Given the description of an element on the screen output the (x, y) to click on. 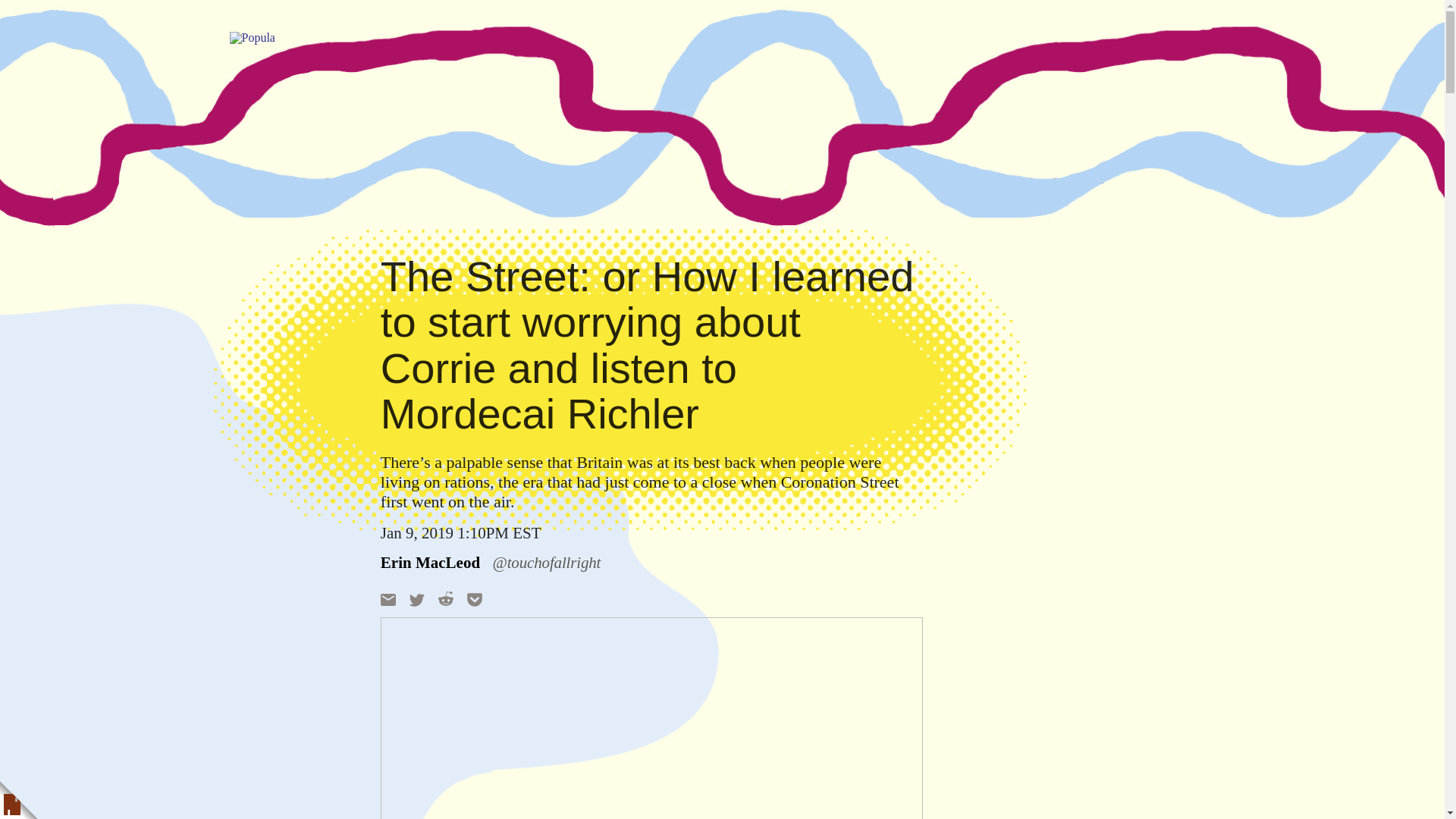
Click to share on Twitter (417, 599)
See more (651, 561)
Reddit (445, 598)
Click to share on Pocket (474, 599)
Email (388, 599)
Click to share on Reddit (445, 598)
Click to email a link to a friend (388, 599)
Pocket (474, 599)
Erin MacLeod (430, 562)
Twitter (417, 599)
